Given the description of an element on the screen output the (x, y) to click on. 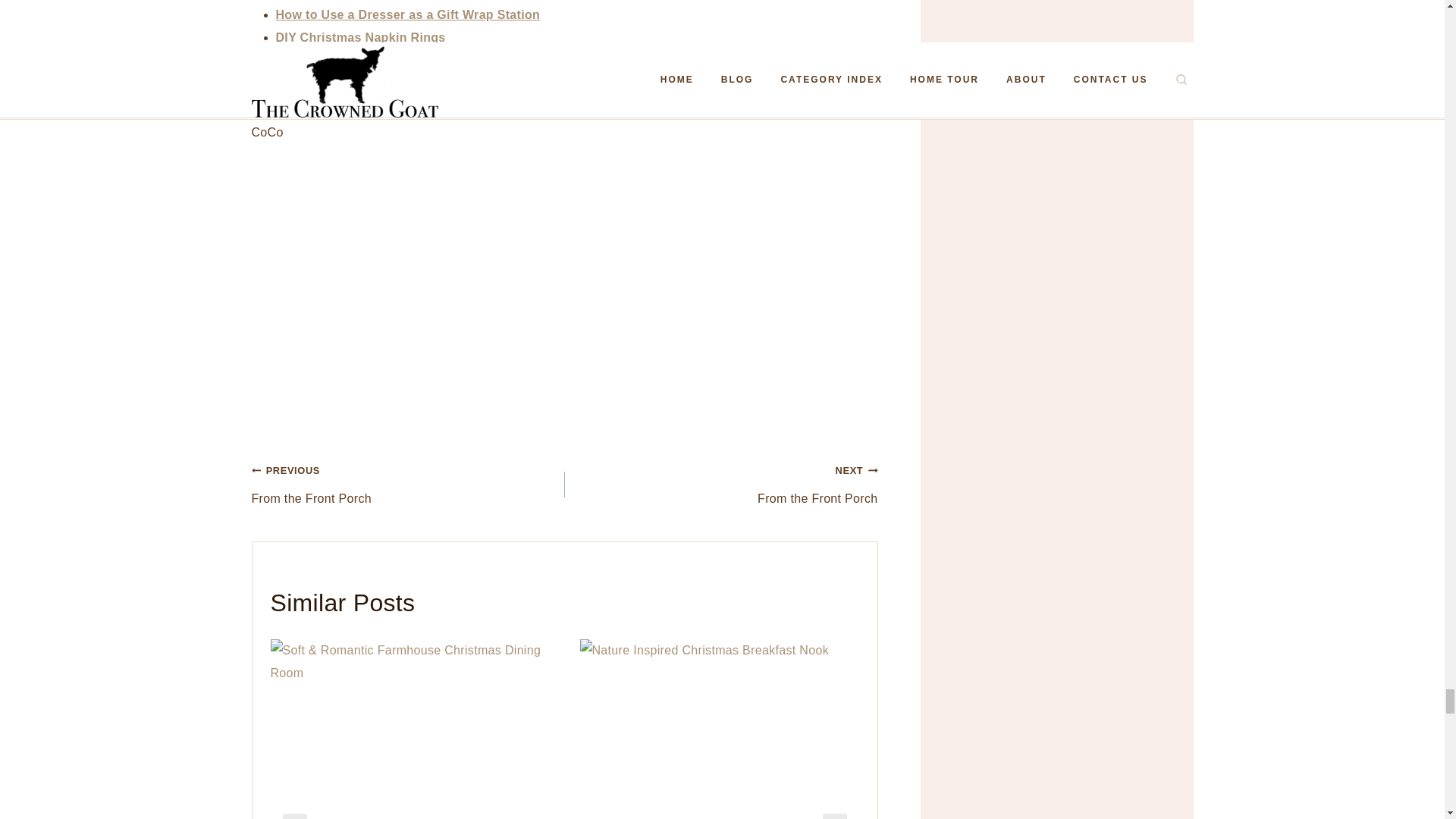
How to Use a Dresser as a Gift Wrap Station (408, 14)
DIY Christmas Napkin Rings  (407, 484)
